Given the description of an element on the screen output the (x, y) to click on. 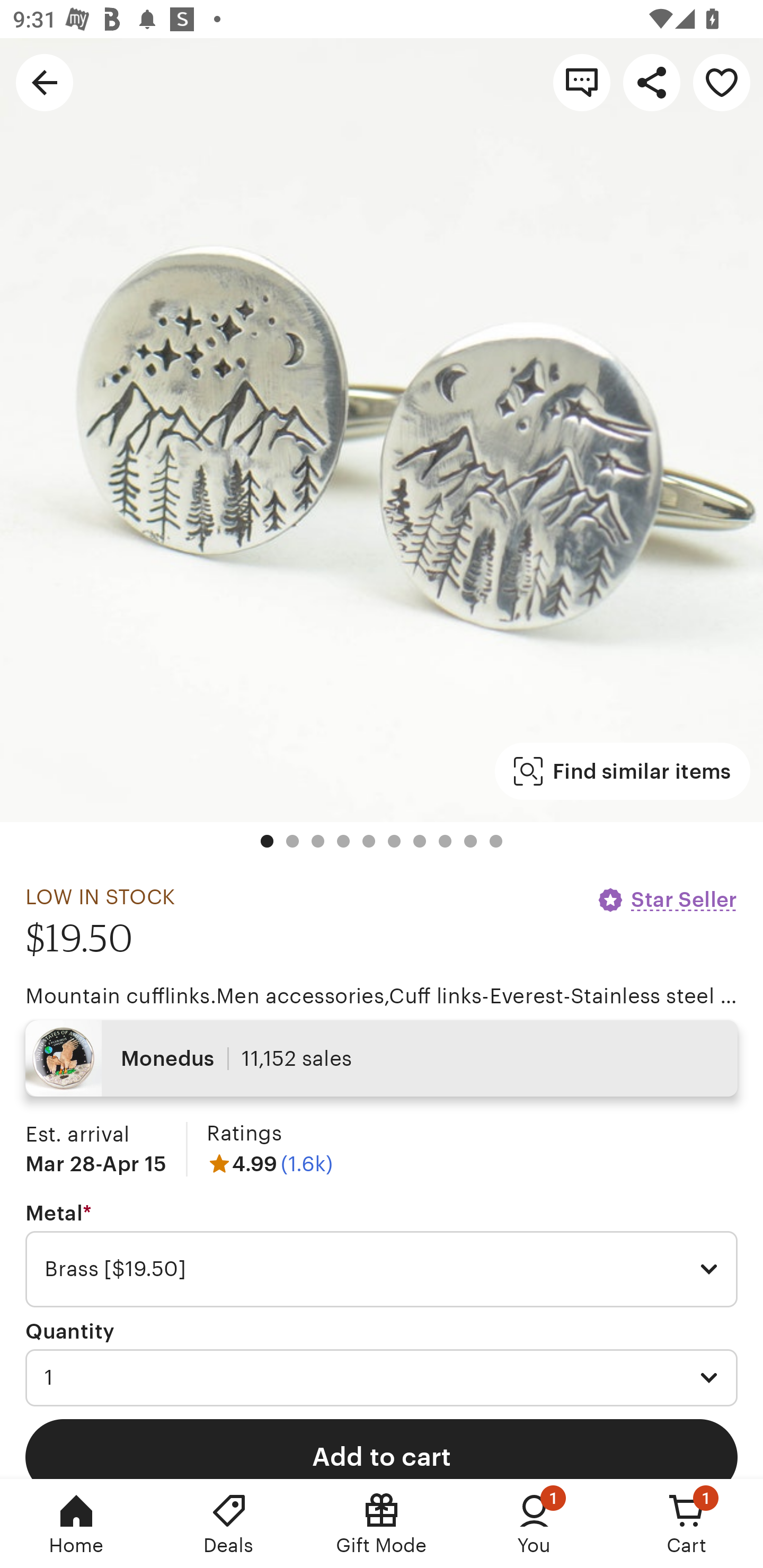
Navigate up (44, 81)
Contact shop (581, 81)
Share (651, 81)
Find similar items (622, 771)
Star Seller (666, 899)
Monedus 11,152 sales (381, 1058)
Ratings (243, 1133)
4.99 (1.6k) (269, 1163)
Metal * Required Brass [$19.50] (381, 1254)
Brass [$19.50] (381, 1268)
Quantity (70, 1331)
1 (381, 1377)
Add to cart (381, 1448)
Deals (228, 1523)
Gift Mode (381, 1523)
You, 1 new notification You (533, 1523)
Cart, 1 new notification Cart (686, 1523)
